Given the description of an element on the screen output the (x, y) to click on. 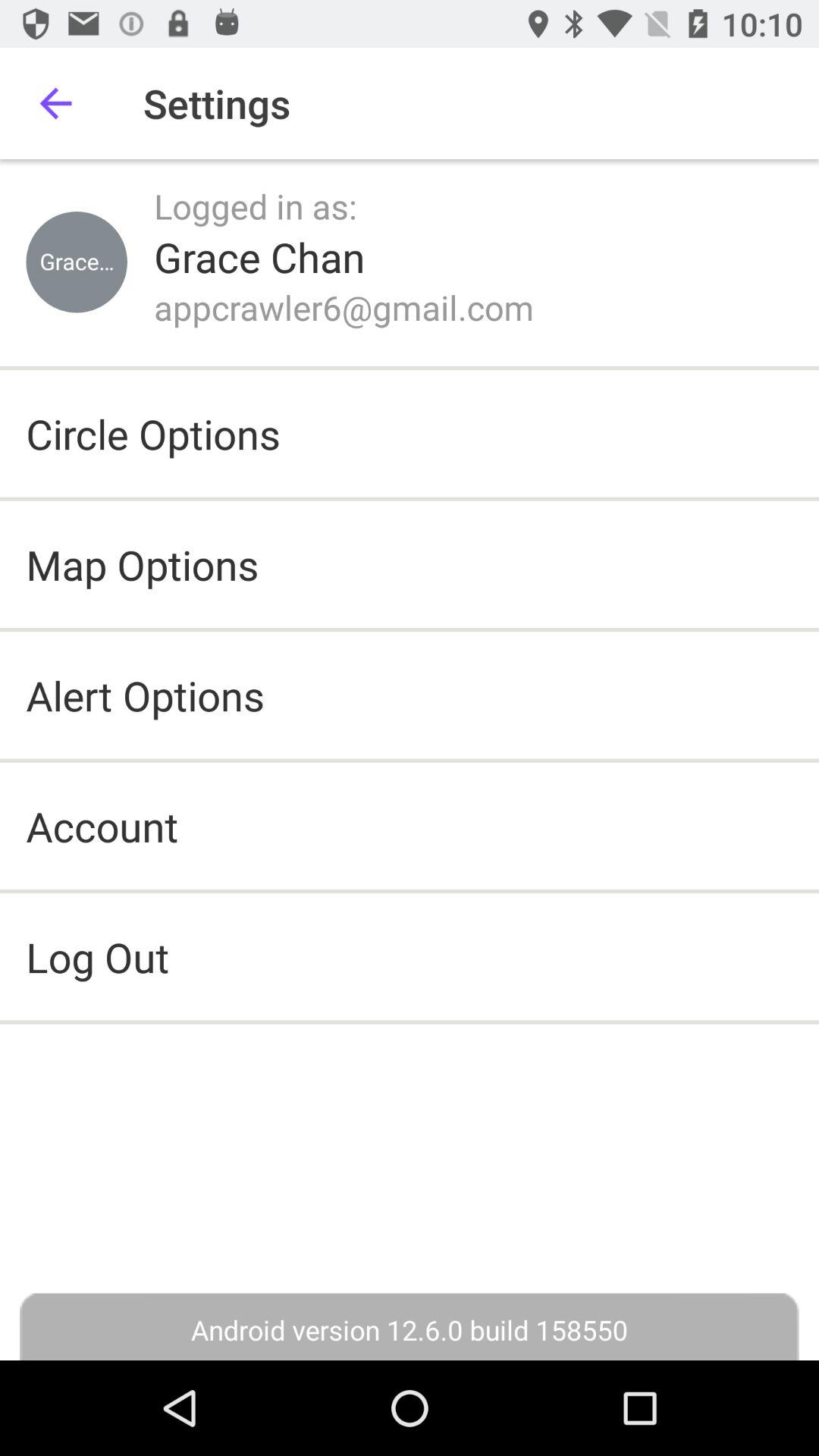
click the icon above grace chan icon (255, 206)
